Given the description of an element on the screen output the (x, y) to click on. 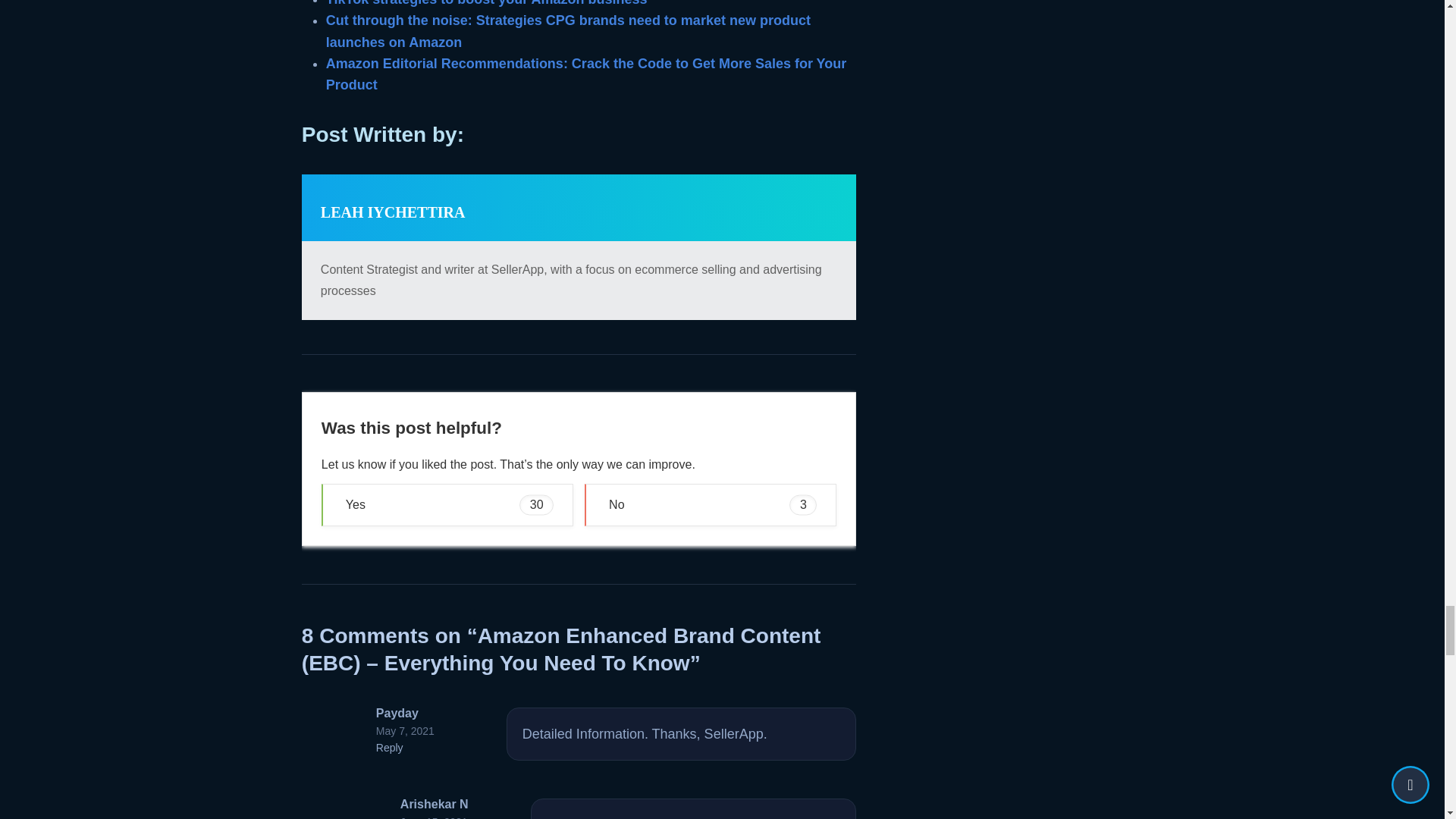
Author profile (392, 211)
TikTok strategies to boost your Amazon business (486, 3)
